Given the description of an element on the screen output the (x, y) to click on. 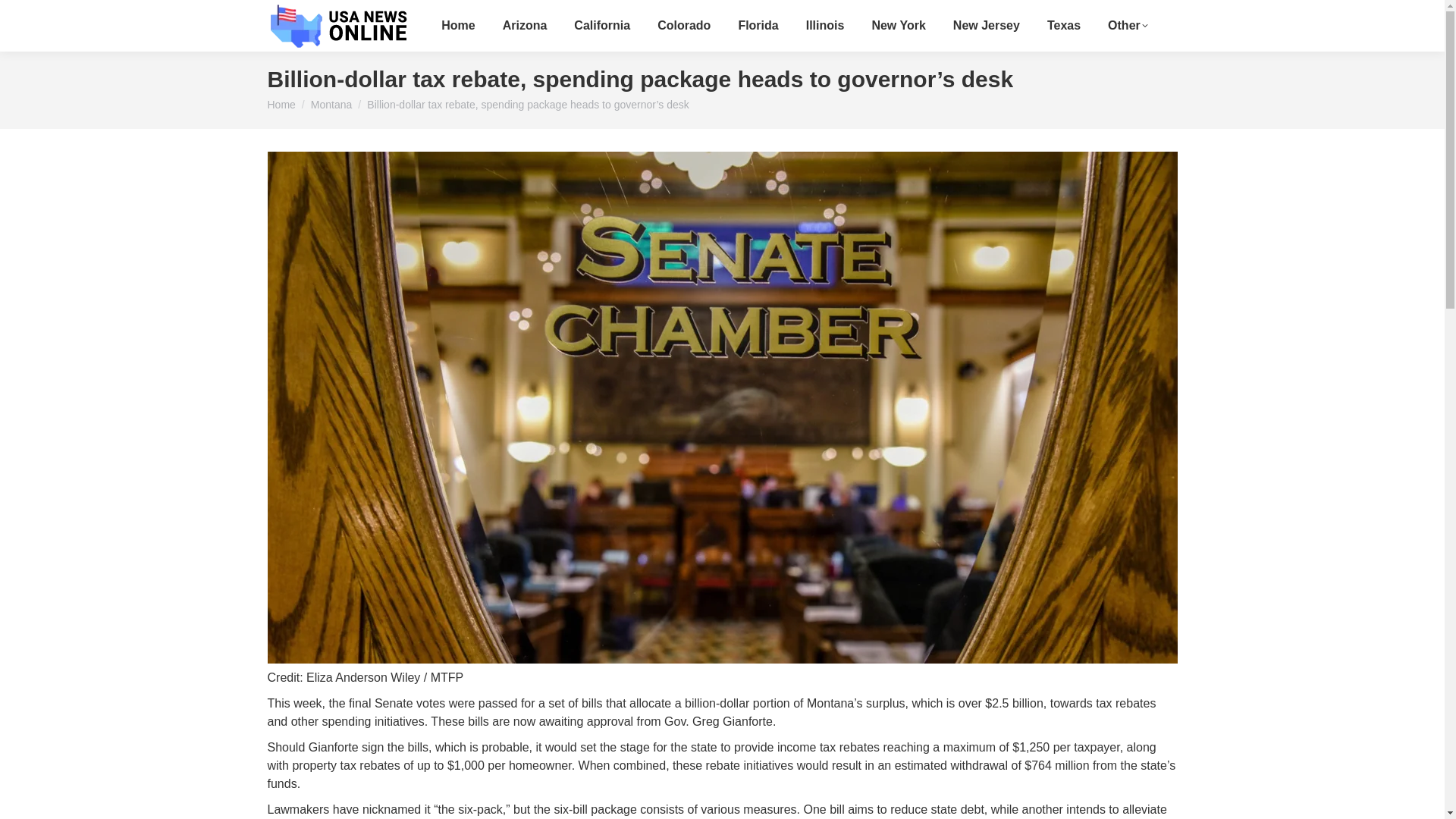
California (601, 25)
New York (897, 25)
New Jersey (986, 25)
Illinois (825, 25)
Arizona (524, 25)
Home (280, 104)
Other (1128, 25)
Florida (757, 25)
Colorado (683, 25)
Montana (331, 104)
Home (457, 25)
Texas (1063, 25)
